Given the description of an element on the screen output the (x, y) to click on. 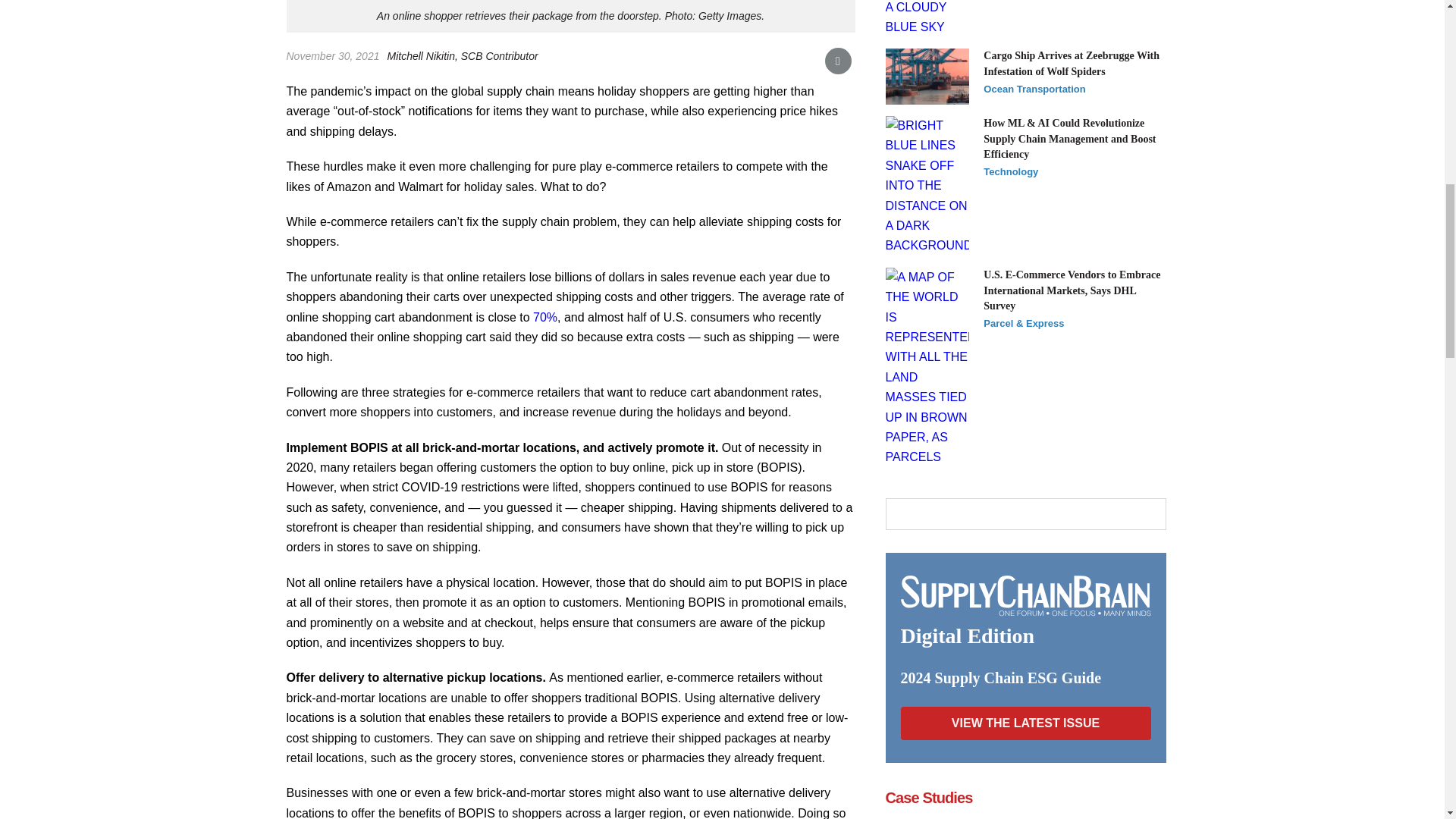
port-of-zeebrugge-iStock-619073526.jpg (927, 76)
FEDEX AIRPLANE iStock- vandervliet93 -516729753.jpg (927, 18)
